Given the description of an element on the screen output the (x, y) to click on. 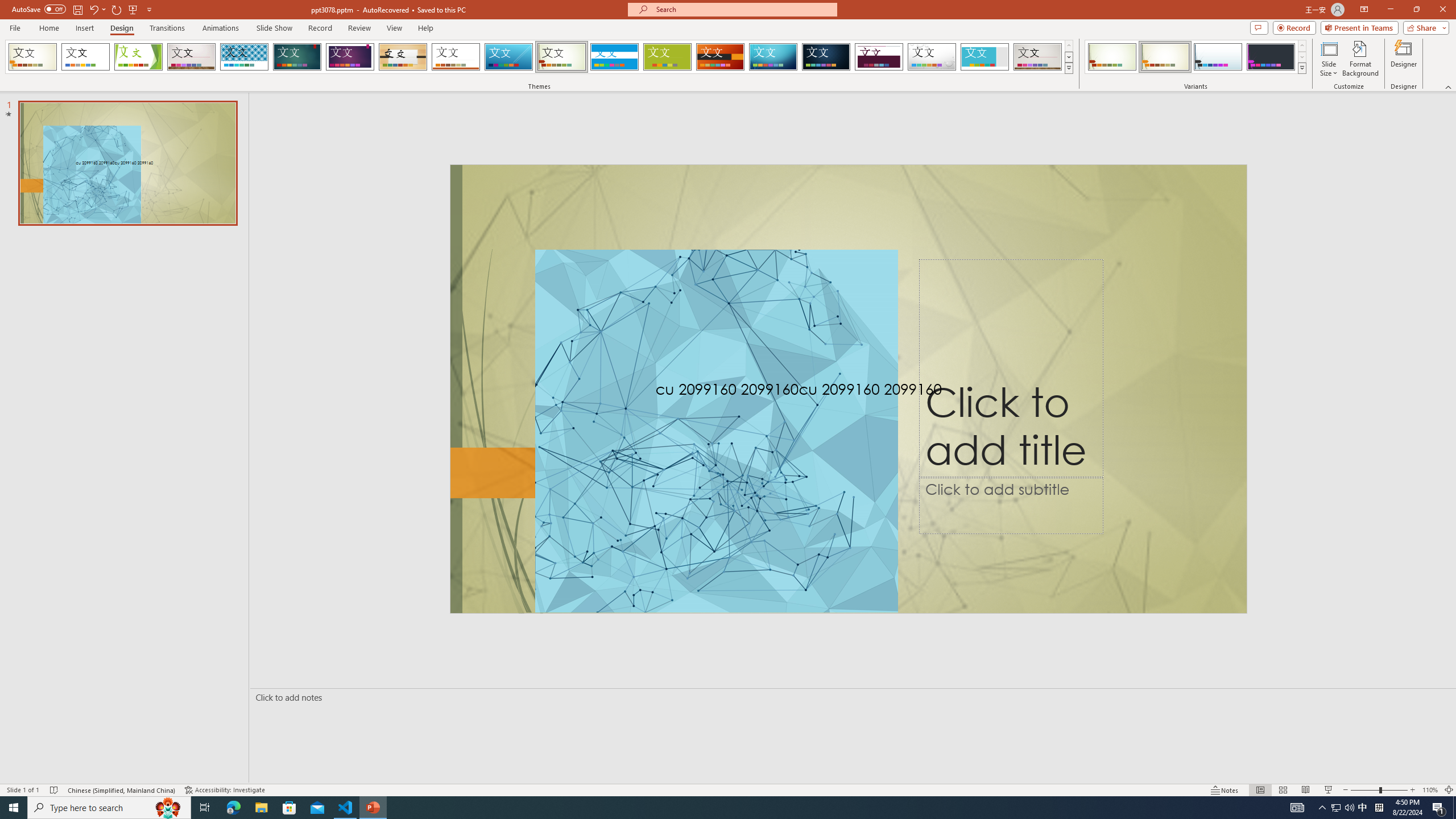
AutomationID: ThemeVariantsGallery (1195, 56)
Slice Loading Preview... (508, 56)
Format Background (1360, 58)
Wisp Variant 4 (1270, 56)
